Given the description of an element on the screen output the (x, y) to click on. 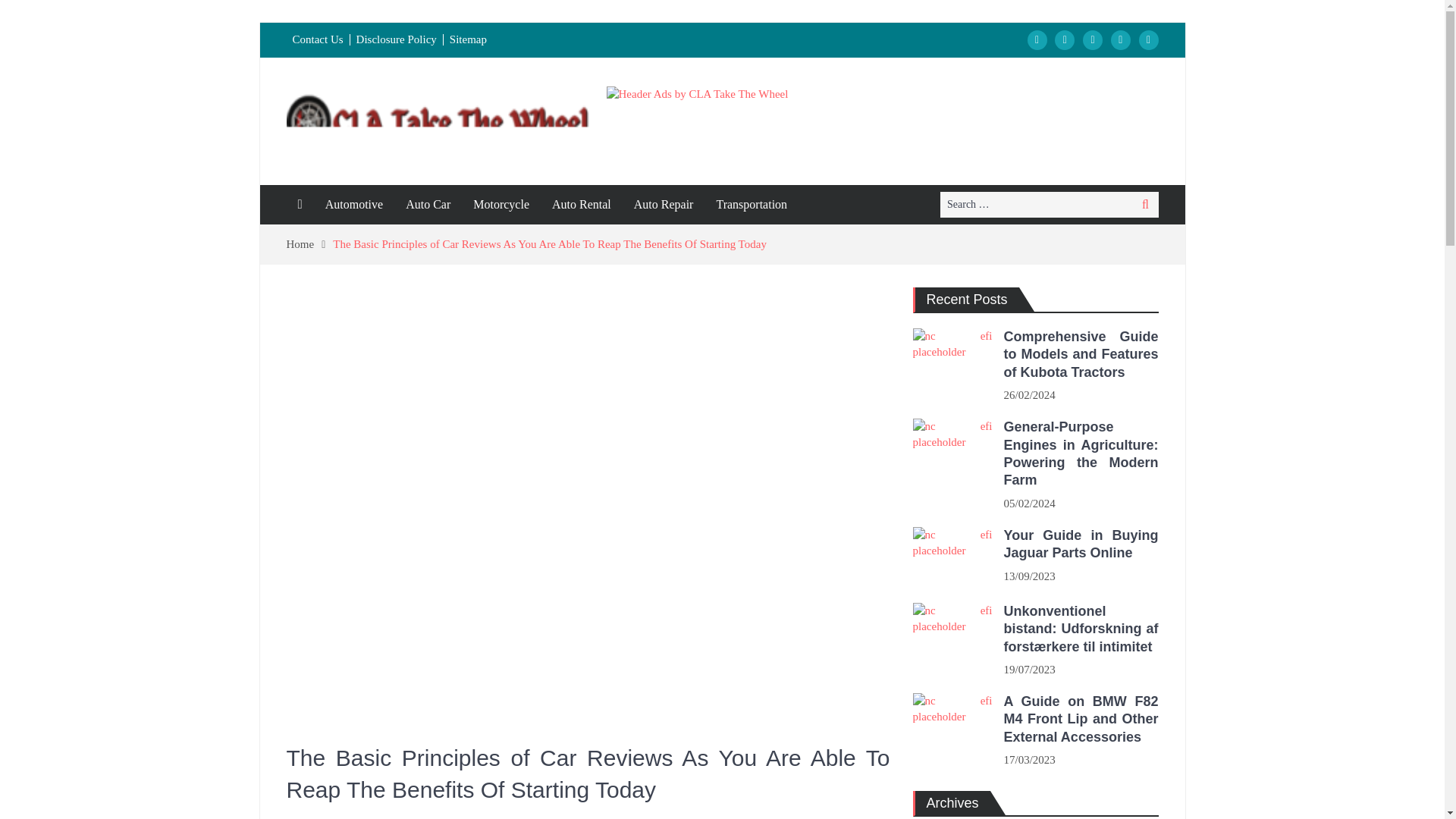
Transportation (750, 204)
Instagram (1064, 39)
TikTok (1120, 39)
Pinterest (1148, 39)
Auto Rental (581, 204)
Sitemap (468, 39)
Twitter (1092, 39)
Search (1145, 204)
Home (309, 244)
Your Guide in Buying Jaguar Parts Online (952, 557)
